Given the description of an element on the screen output the (x, y) to click on. 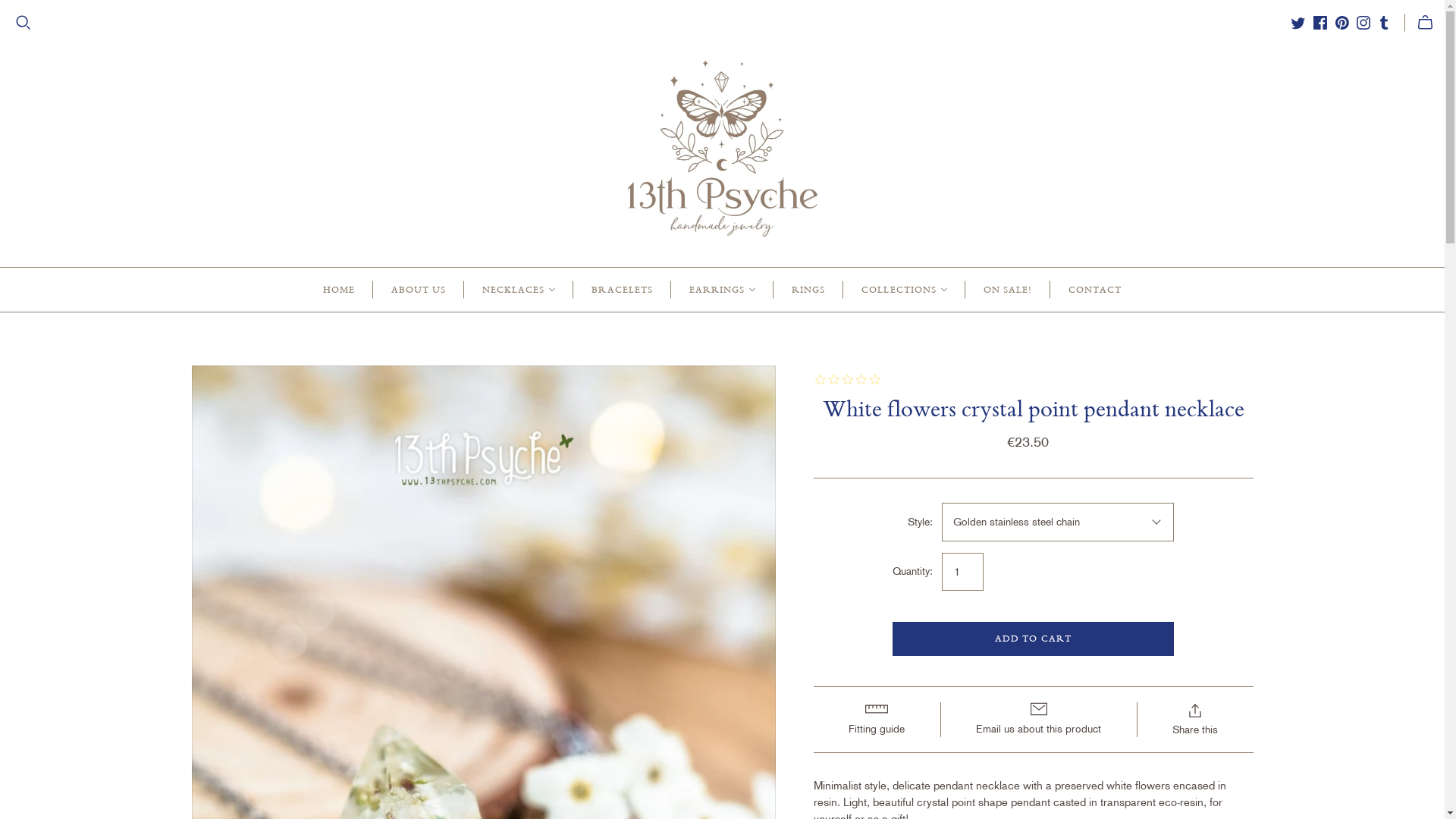
CONTACT Element type: text (1094, 288)
ADD TO CART Element type: text (1032, 638)
COLLECTIONS Element type: text (903, 288)
Share this Element type: text (1195, 719)
HOME Element type: text (338, 288)
RINGS Element type: text (808, 288)
BRACELETS Element type: text (621, 288)
Email us about this product Element type: text (1038, 719)
ON SALE! Element type: text (1007, 288)
ABOUT US Element type: text (418, 288)
NECKLACES Element type: text (518, 288)
Fitting guide Element type: text (875, 719)
EARRINGS Element type: text (722, 288)
